Given the description of an element on the screen output the (x, y) to click on. 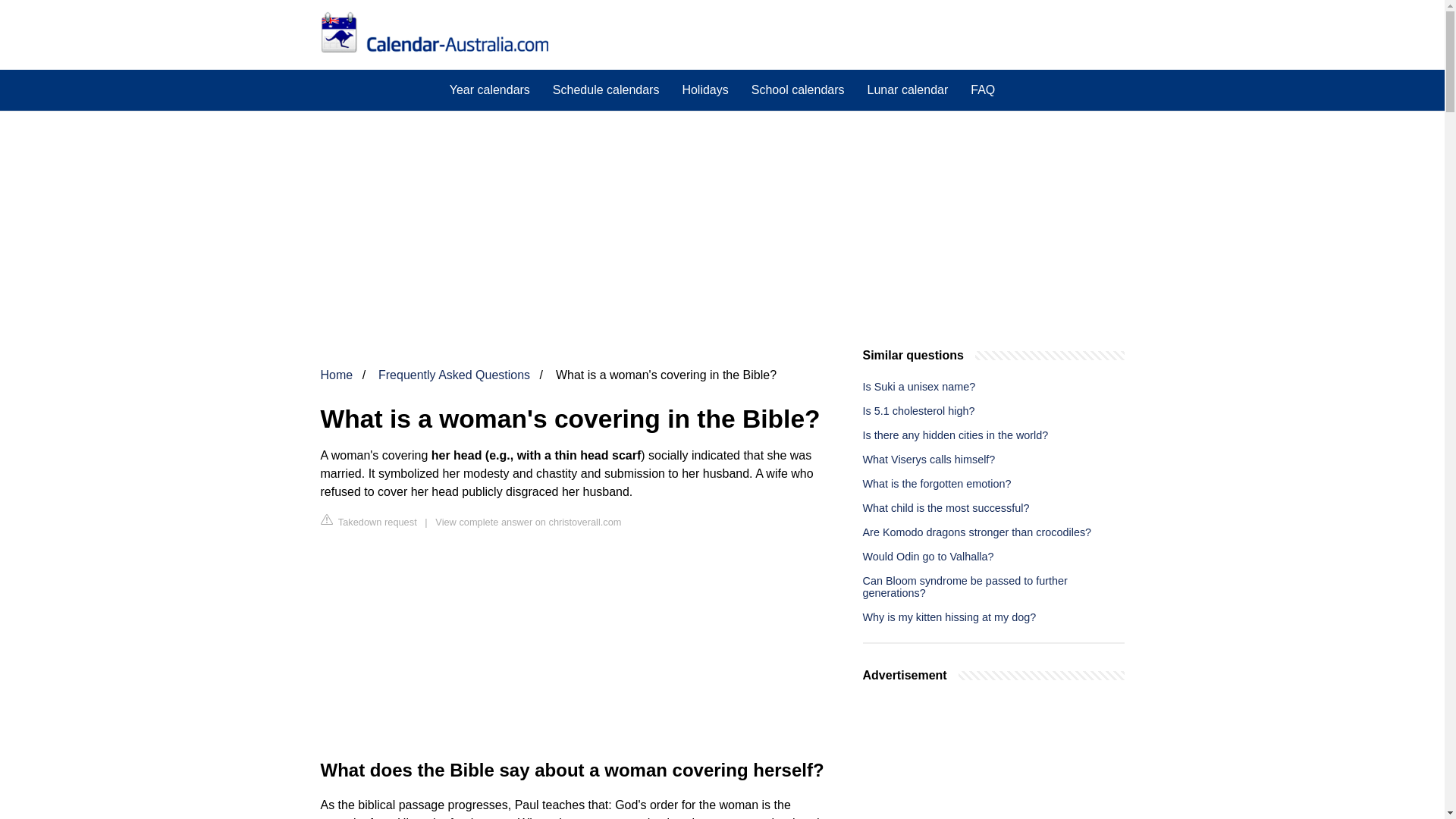
Lunar calendar (907, 89)
Frequently Asked Questions (453, 374)
Holidays (704, 89)
School calendars (797, 89)
View complete answer on christoverall.com (528, 521)
Year calendars (489, 89)
Home (336, 374)
FAQ (982, 89)
Takedown request (368, 521)
Schedule calendars (606, 89)
